Given the description of an element on the screen output the (x, y) to click on. 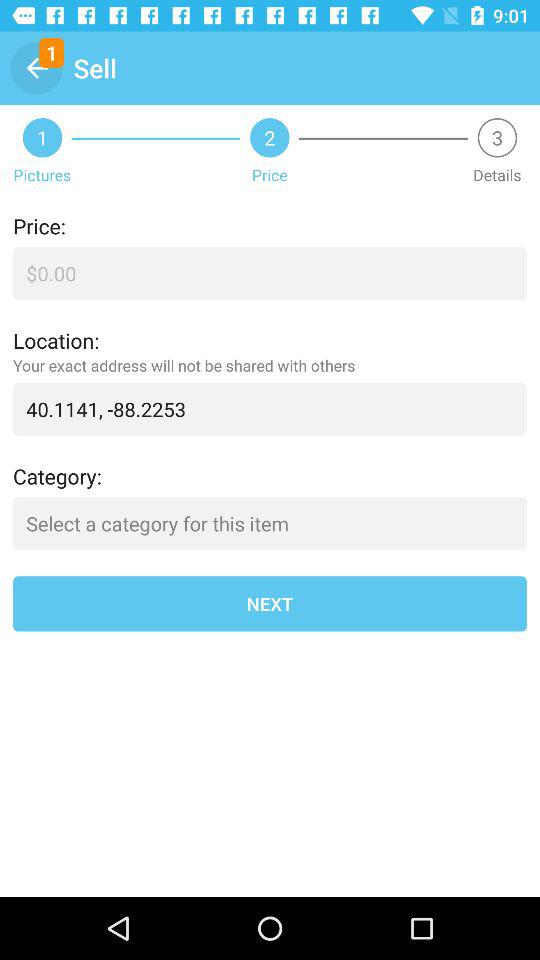
open next icon (269, 603)
